Given the description of an element on the screen output the (x, y) to click on. 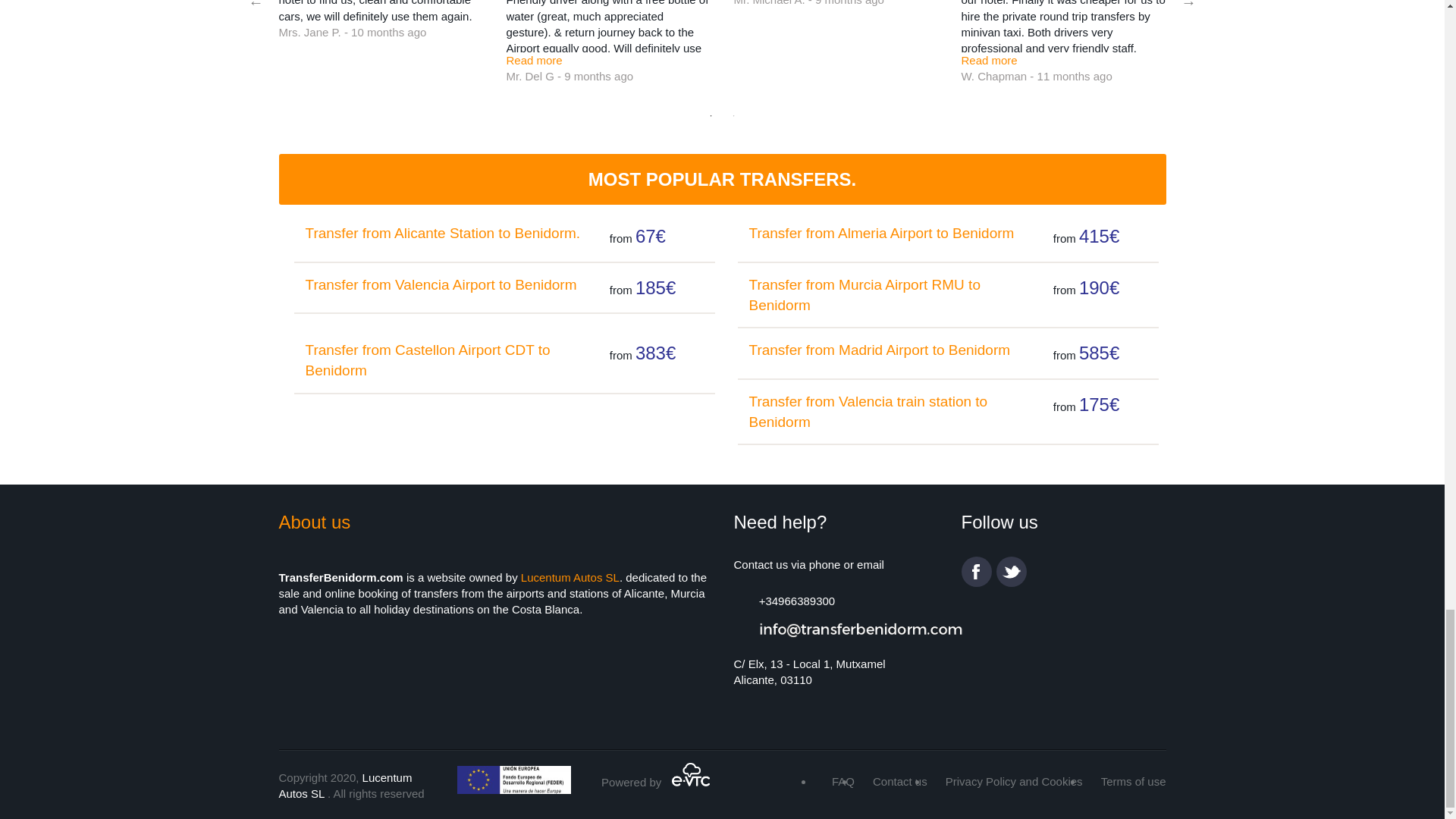
Contact us (899, 780)
Read more (534, 60)
Terms of use (1133, 780)
Privacy Policy and Cookies (1013, 780)
PREVIOUS (255, 4)
Twitter (1010, 571)
FAQ (842, 780)
Facebook (975, 571)
